Given the description of an element on the screen output the (x, y) to click on. 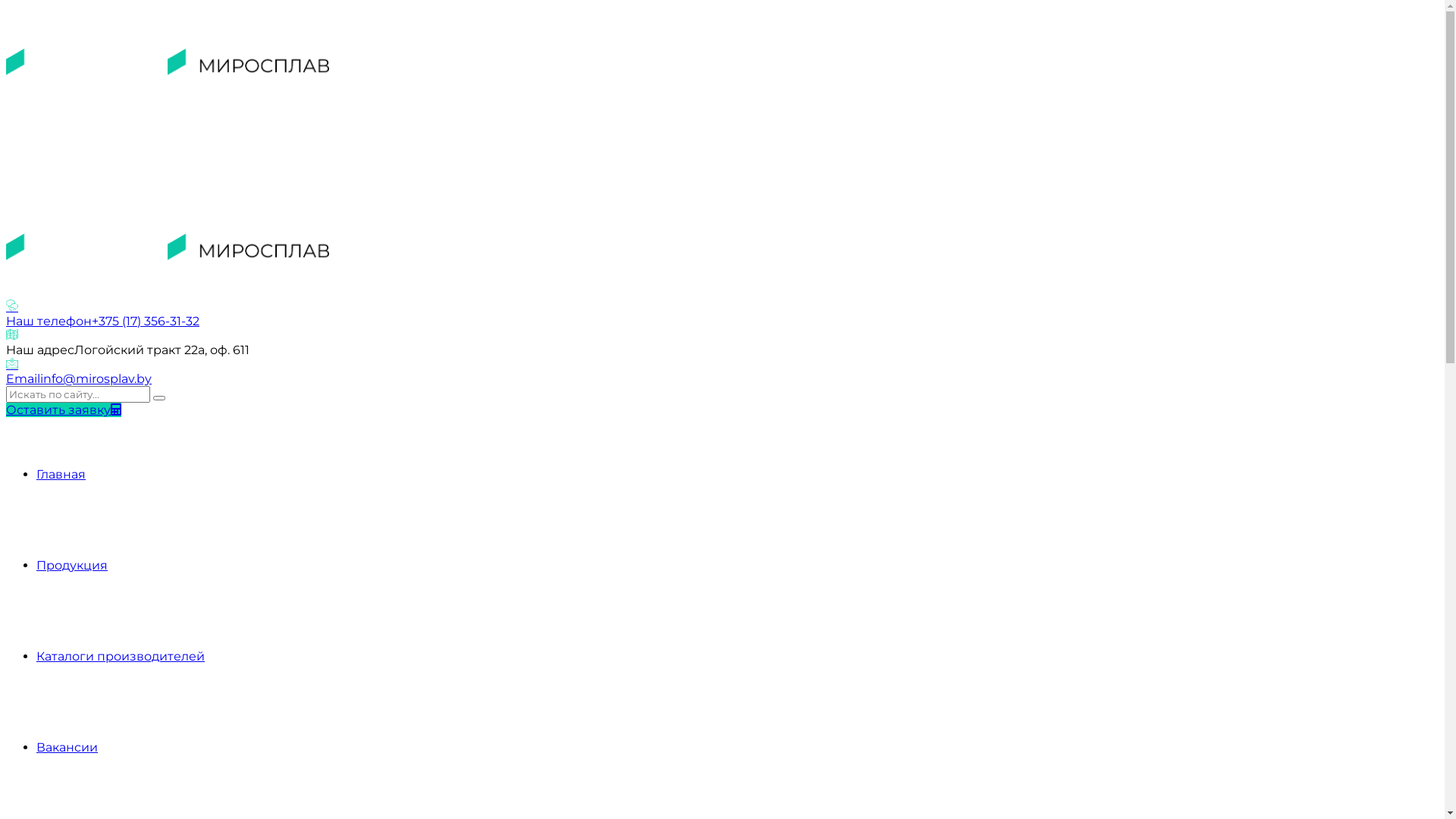
Emailinfo@mirosplav.by Element type: text (722, 371)
